Given the description of an element on the screen output the (x, y) to click on. 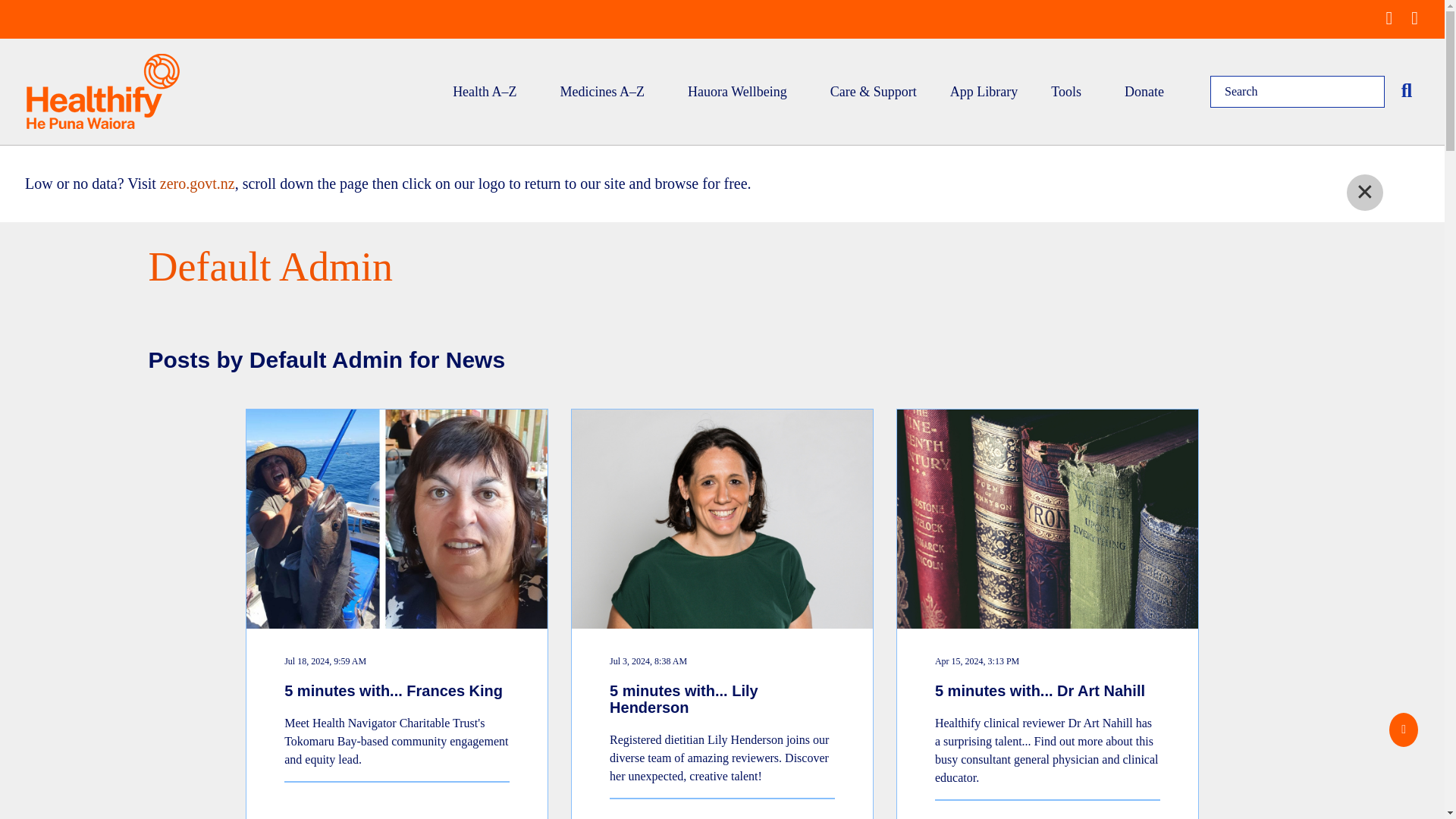
Search this website (1406, 91)
logo orange v2 (102, 91)
